Given the description of an element on the screen output the (x, y) to click on. 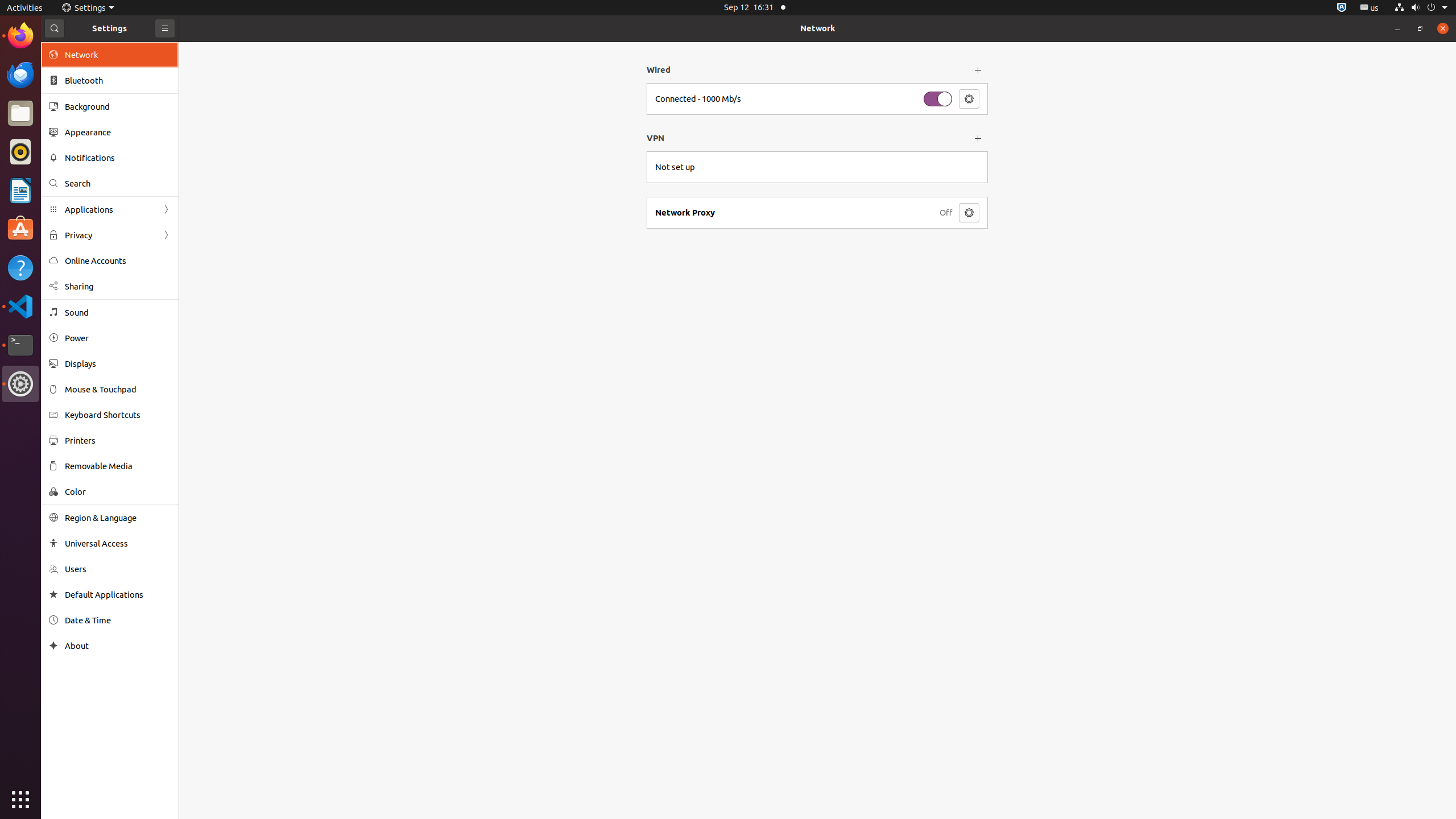
Notifications Element type: label (117, 157)
Primary Menu Element type: toggle-button (164, 28)
Appearance Element type: label (117, 132)
